Given the description of an element on the screen output the (x, y) to click on. 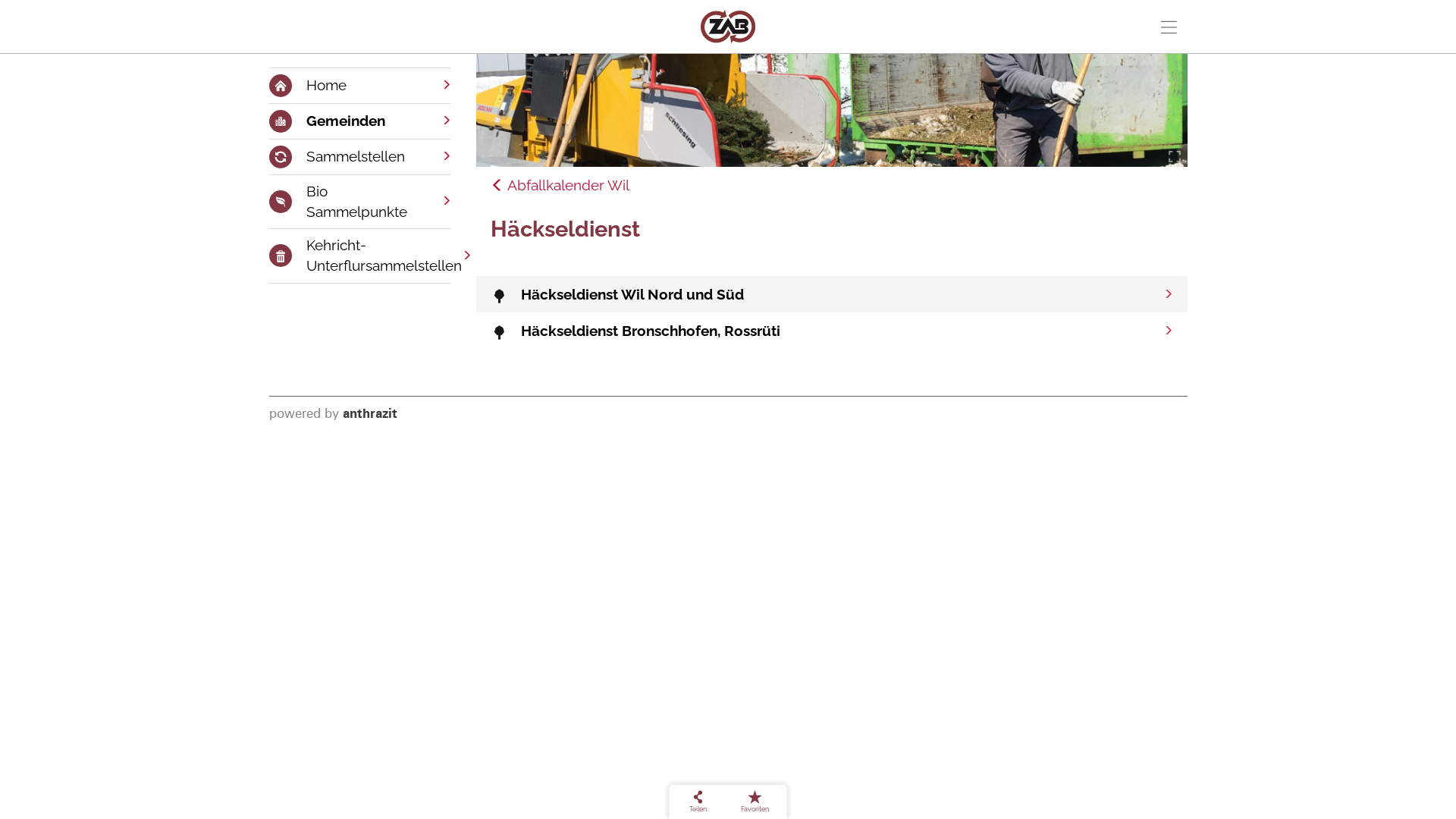
Abfallkalender Wil Element type: text (558, 184)
Sammelstellen Element type: text (359, 156)
Favoriten Element type: text (754, 801)
Teilen Element type: text (696, 801)
by Element type: text (331, 412)
Home Element type: text (359, 85)
Gemeinden Element type: text (359, 120)
Navigation anzeigen Element type: hover (1168, 24)
Bio Sammelpunkte Element type: text (359, 201)
Kehricht-Unterflursammelstellen Element type: text (359, 255)
